Given the description of an element on the screen output the (x, y) to click on. 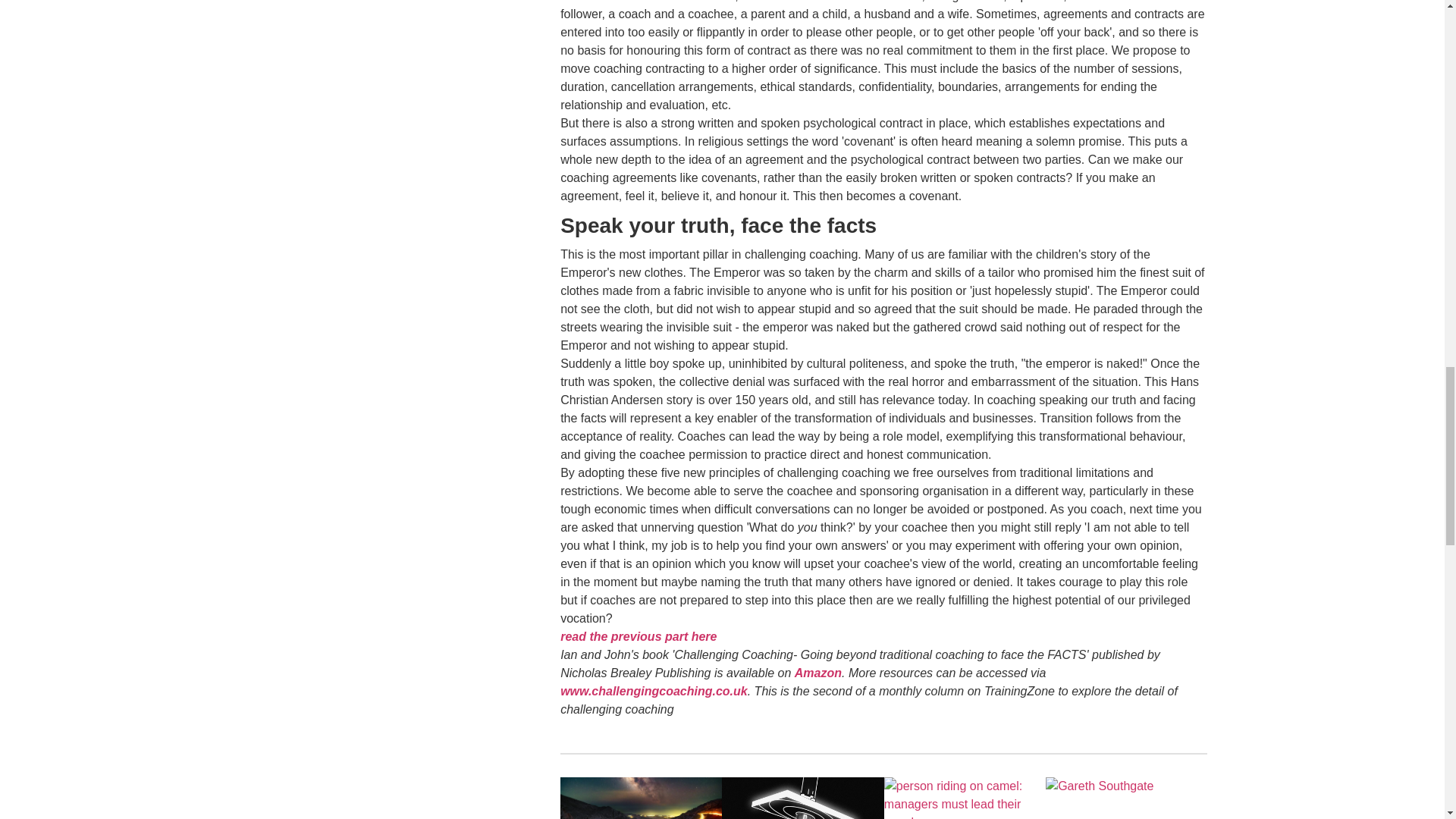
read the previous part here (638, 635)
www.challengingcoaching.co.uk (654, 690)
Amazon (817, 672)
